Given the description of an element on the screen output the (x, y) to click on. 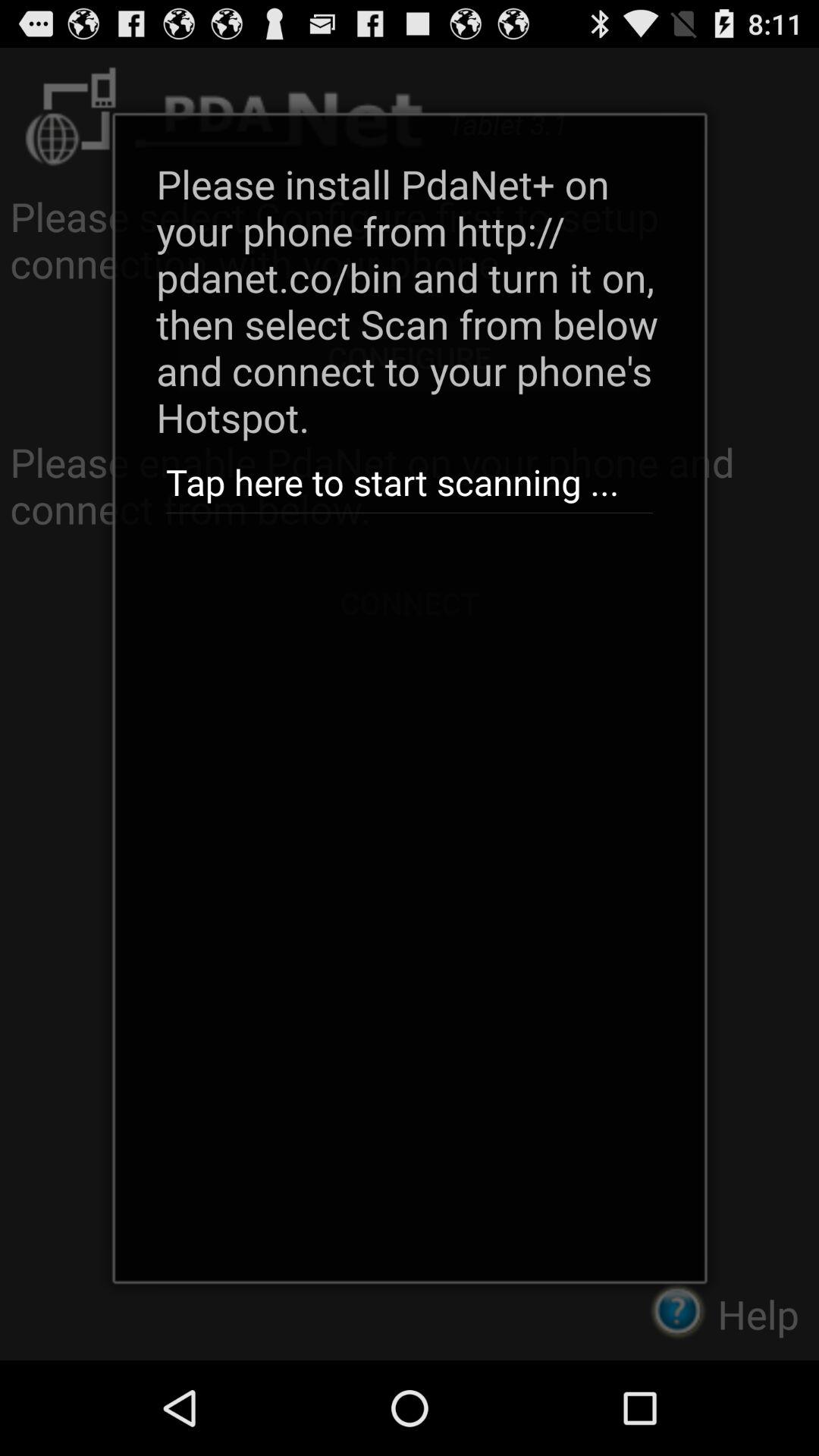
press the tap here to app (409, 482)
